Given the description of an element on the screen output the (x, y) to click on. 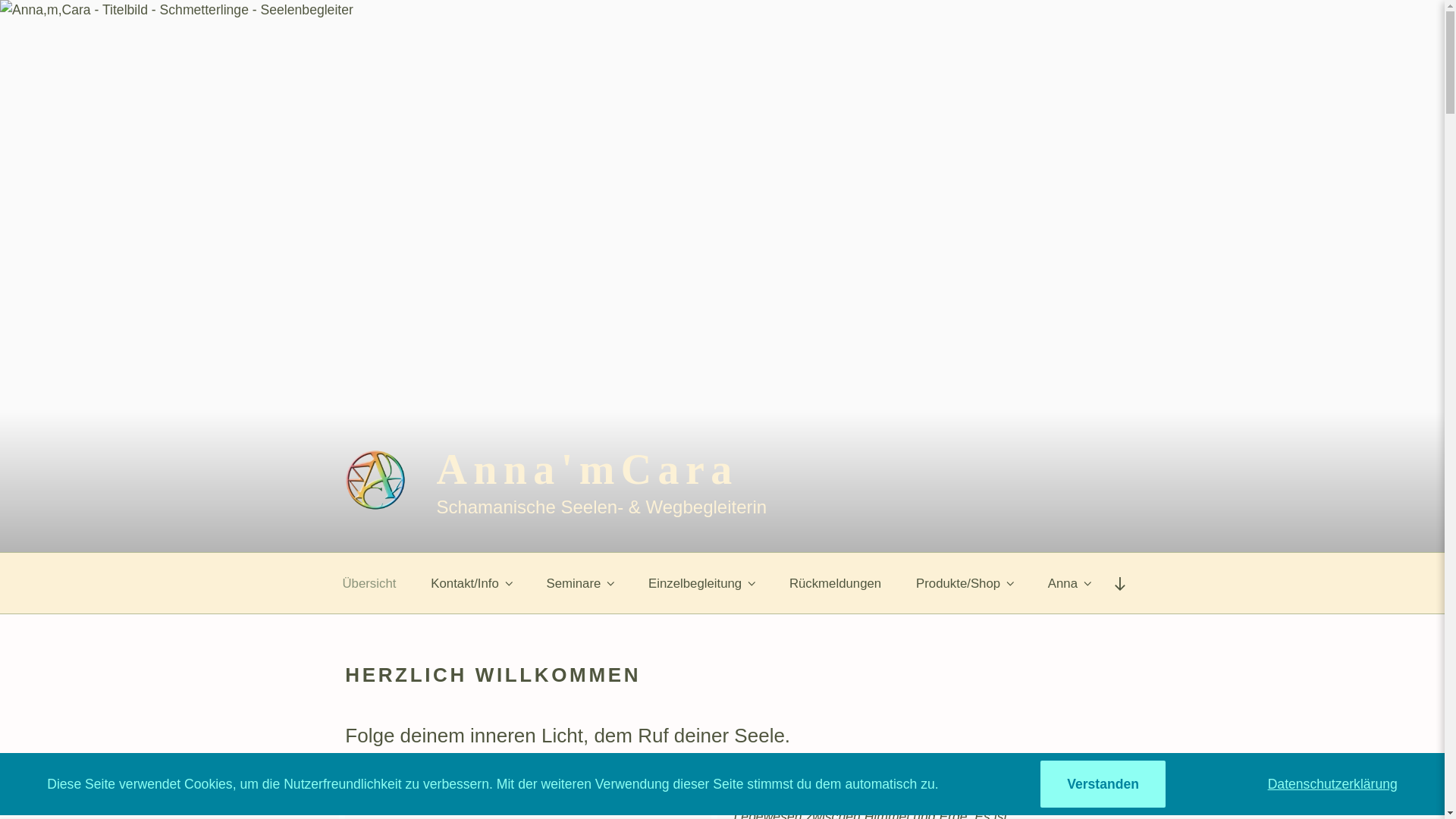
Kontakt/Info Element type: text (470, 583)
Anna'mCara Element type: text (586, 468)
Zum Inhalt nach unten scrollen Element type: text (1119, 583)
Produkte/Shop Element type: text (964, 583)
Seminare Element type: text (580, 583)
Anna Element type: text (1069, 583)
Verstanden Element type: text (1102, 783)
Einzelbegleitung Element type: text (701, 583)
